Given the description of an element on the screen output the (x, y) to click on. 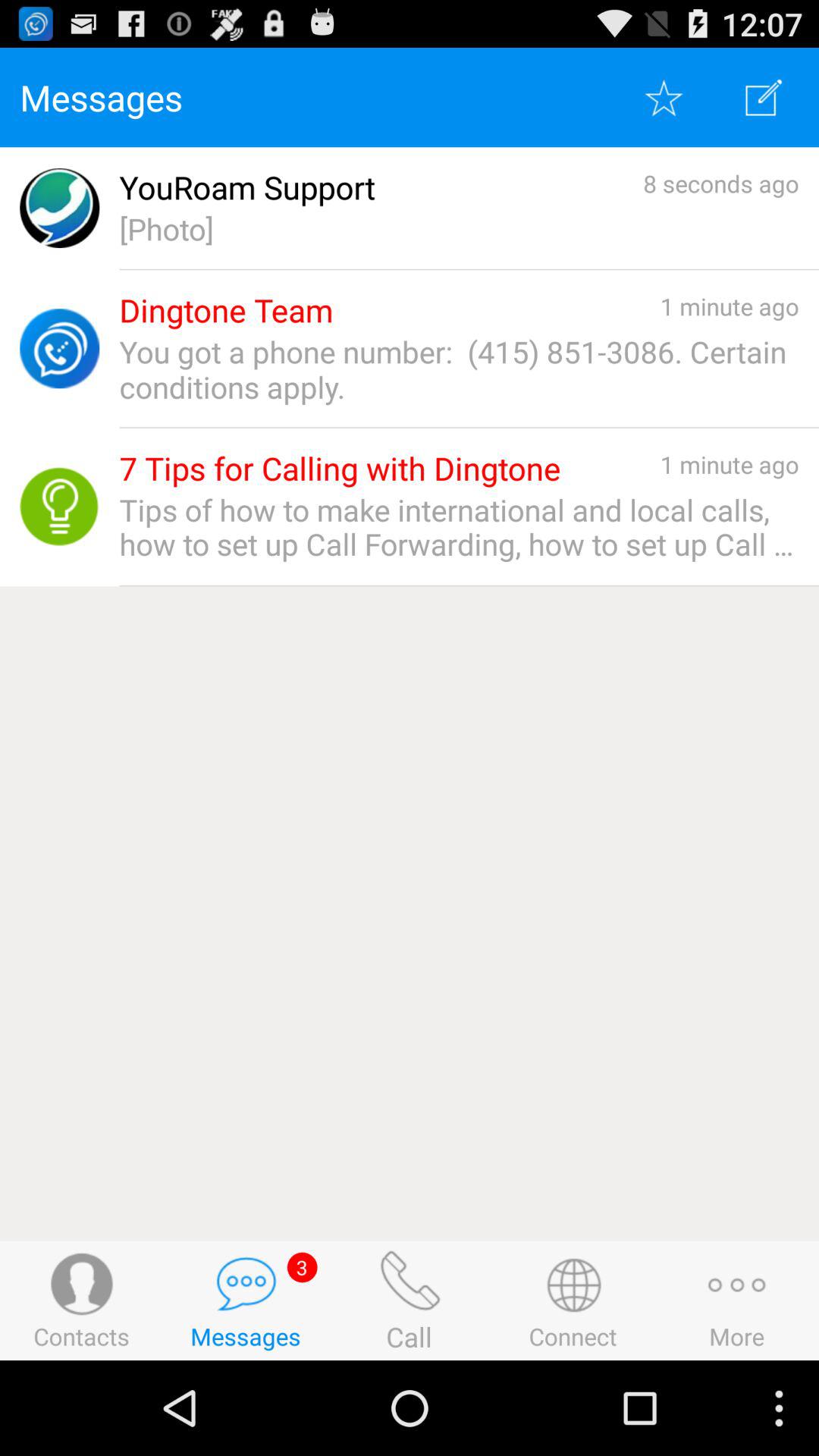
change view (763, 97)
